Given the description of an element on the screen output the (x, y) to click on. 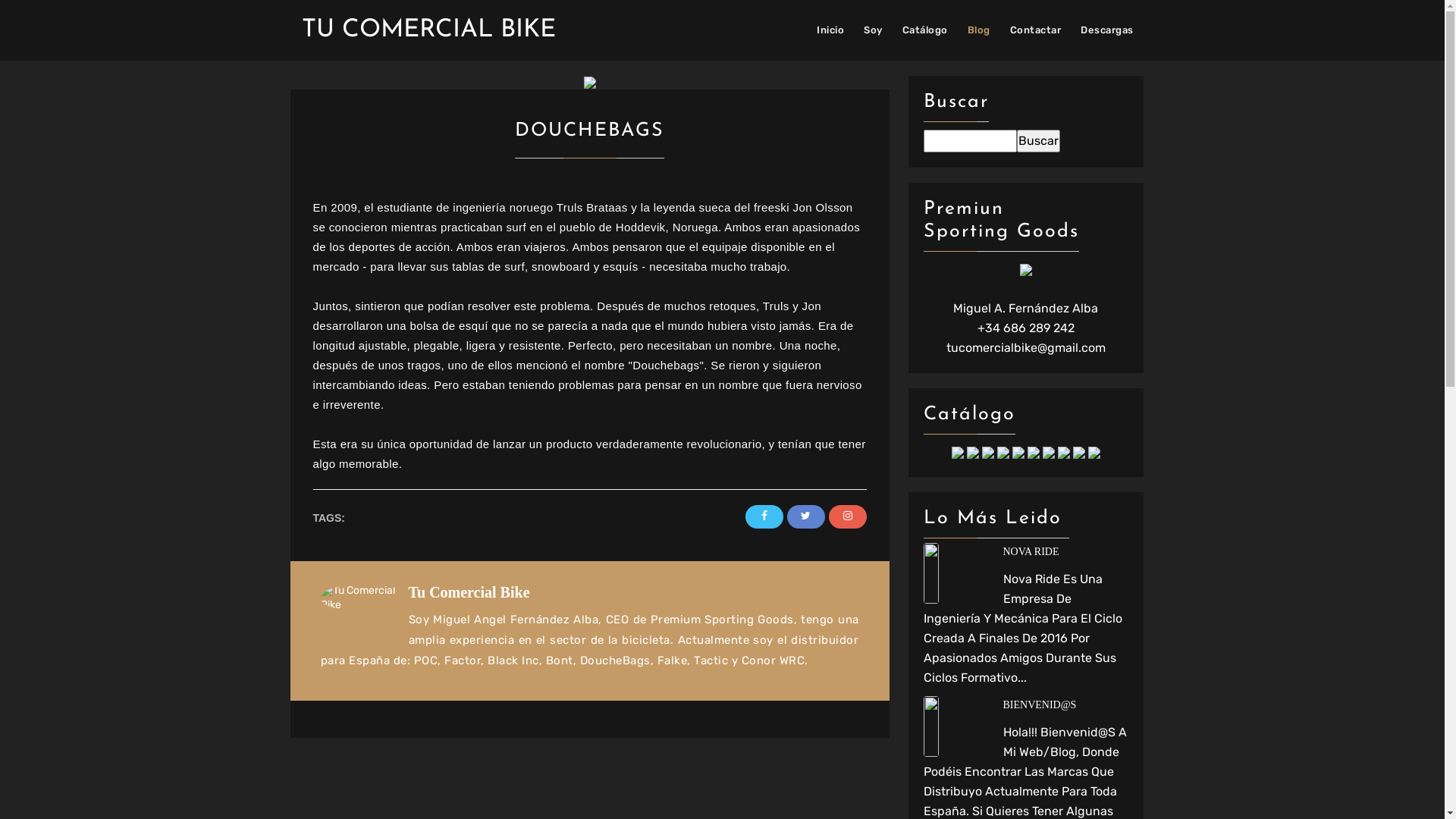
TU COMERCIAL BIKE Element type: text (428, 30)
Contactar Element type: text (1035, 30)
NOVA RIDE Element type: text (1025, 551)
search Element type: hover (969, 140)
BIENVENID@S Element type: text (1025, 705)
Tu Comercial Bike Element type: text (468, 592)
Soy Element type: text (872, 30)
Inicio Element type: text (830, 30)
Blog Element type: text (978, 30)
Buscar Element type: text (1037, 140)
Descargas Element type: text (1106, 30)
search Element type: hover (1037, 140)
Tu Comercial Bike Element type: hover (363, 597)
